Given the description of an element on the screen output the (x, y) to click on. 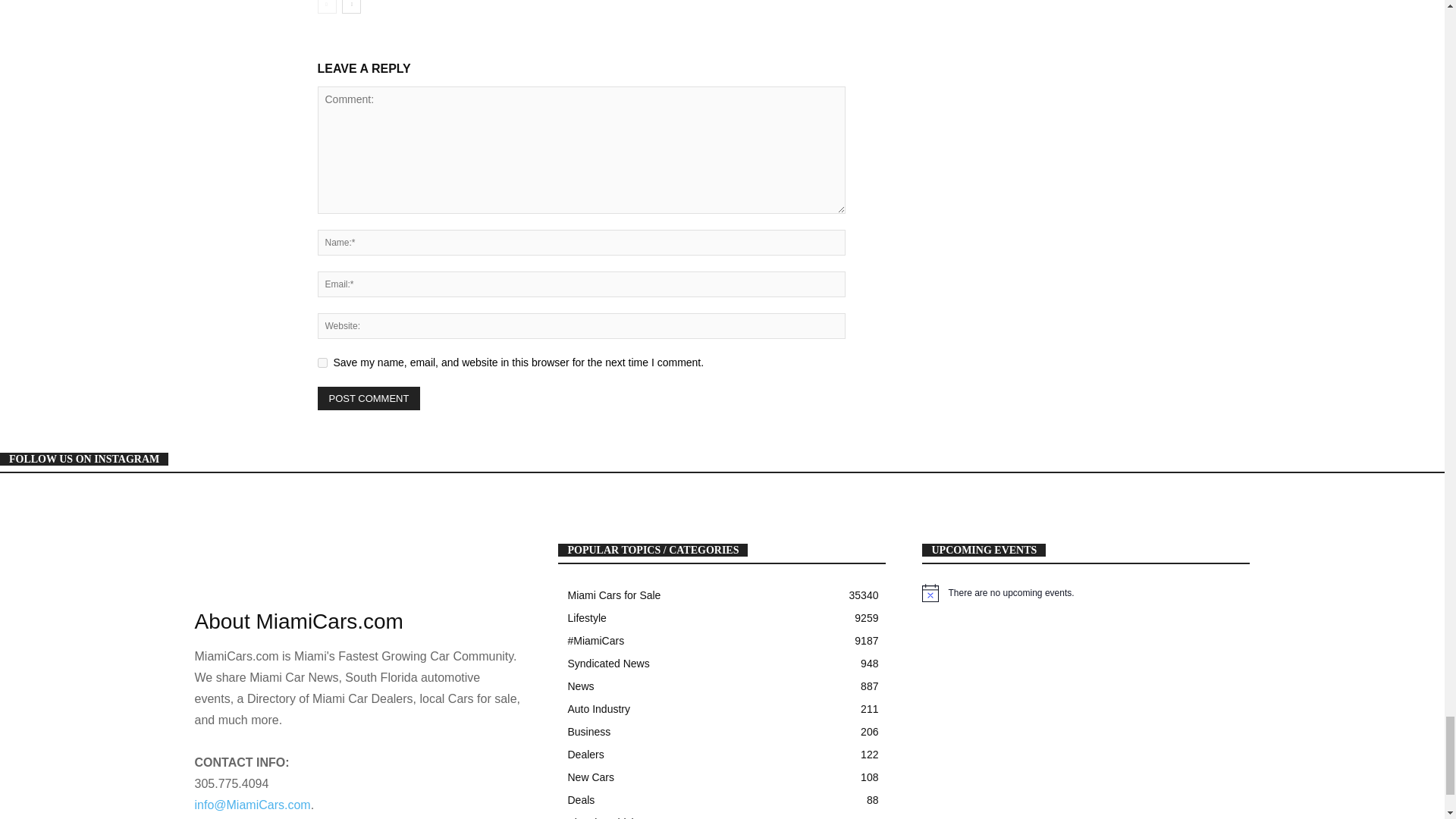
Post Comment (368, 398)
yes (321, 362)
